Given the description of an element on the screen output the (x, y) to click on. 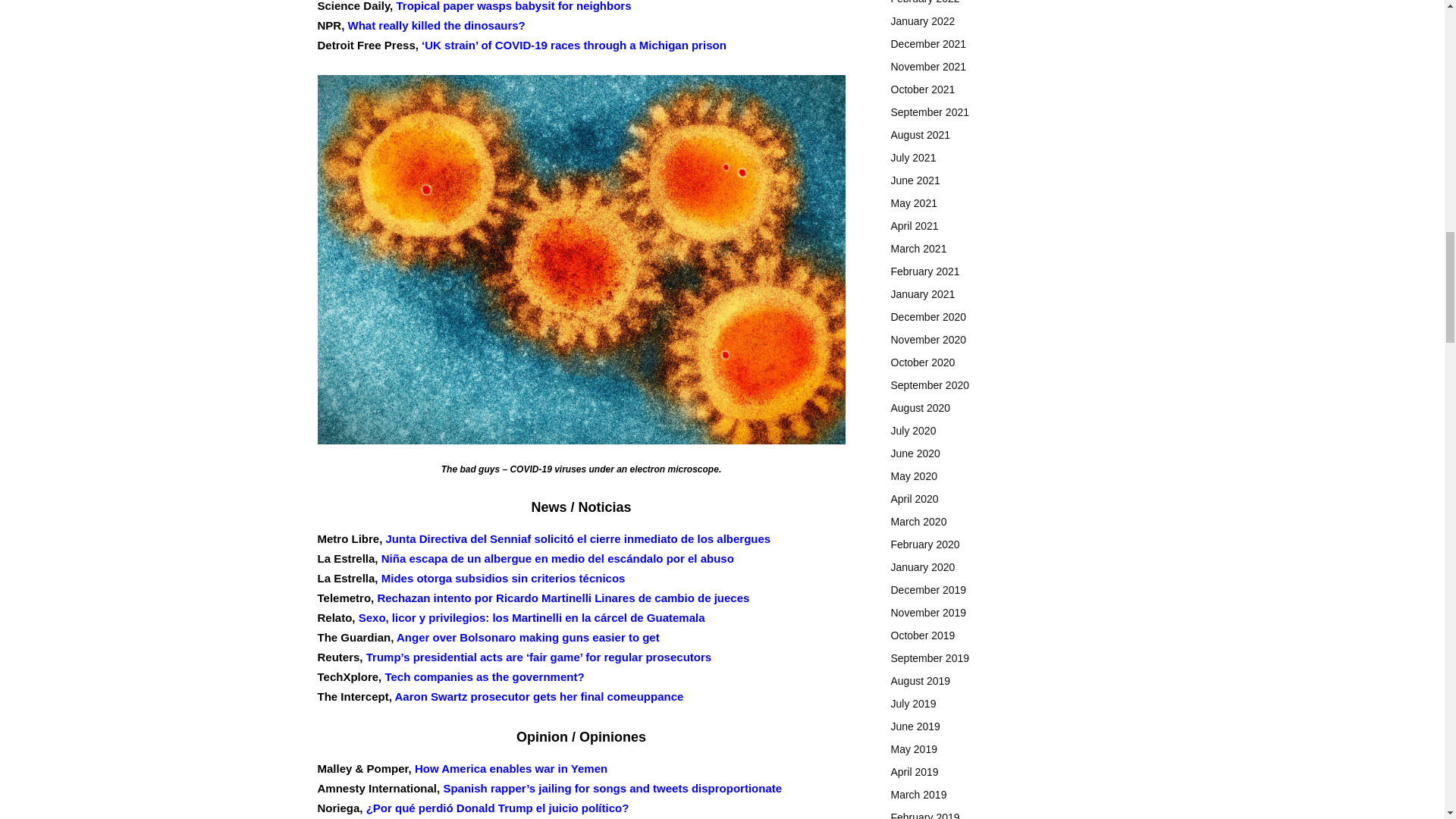
Tropical paper wasps babysit for neighbors (513, 5)
What really killed the dinosaurs? (436, 24)
